Given the description of an element on the screen output the (x, y) to click on. 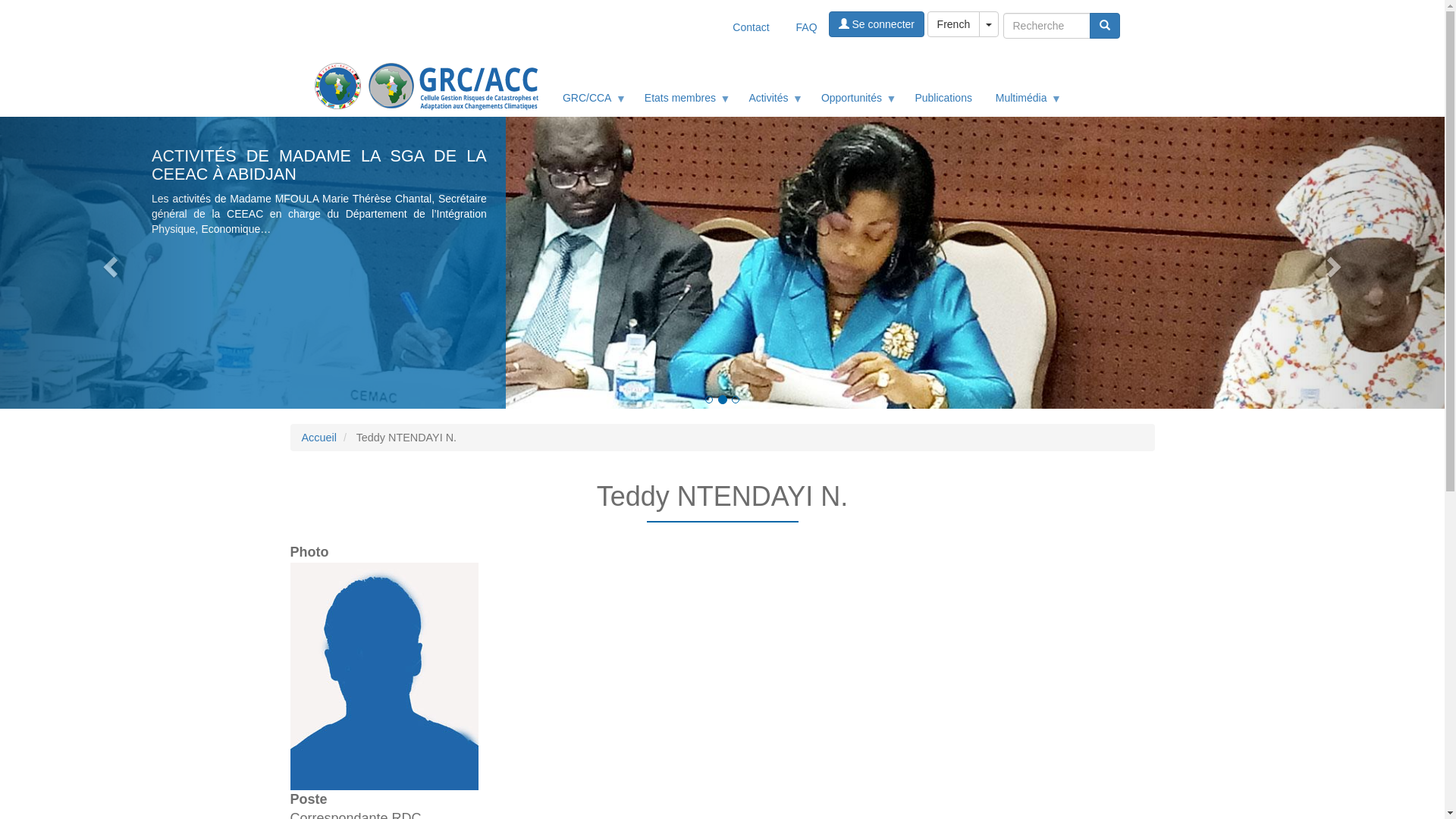
Contact Element type: text (750, 26)
FAQ Element type: text (806, 26)
Suivant Element type: text (1335, 262)
Aller au contenu principal Element type: text (0, 11)
Toggle Dropdown Element type: text (988, 24)
Se connecter Element type: text (876, 24)
Accueil Element type: hover (431, 84)
French Element type: text (953, 24)
Recherche Element type: text (1104, 25)
Accueil Element type: text (318, 437)
Previous Element type: text (108, 262)
Publications Element type: text (943, 97)
